Given the description of an element on the screen output the (x, y) to click on. 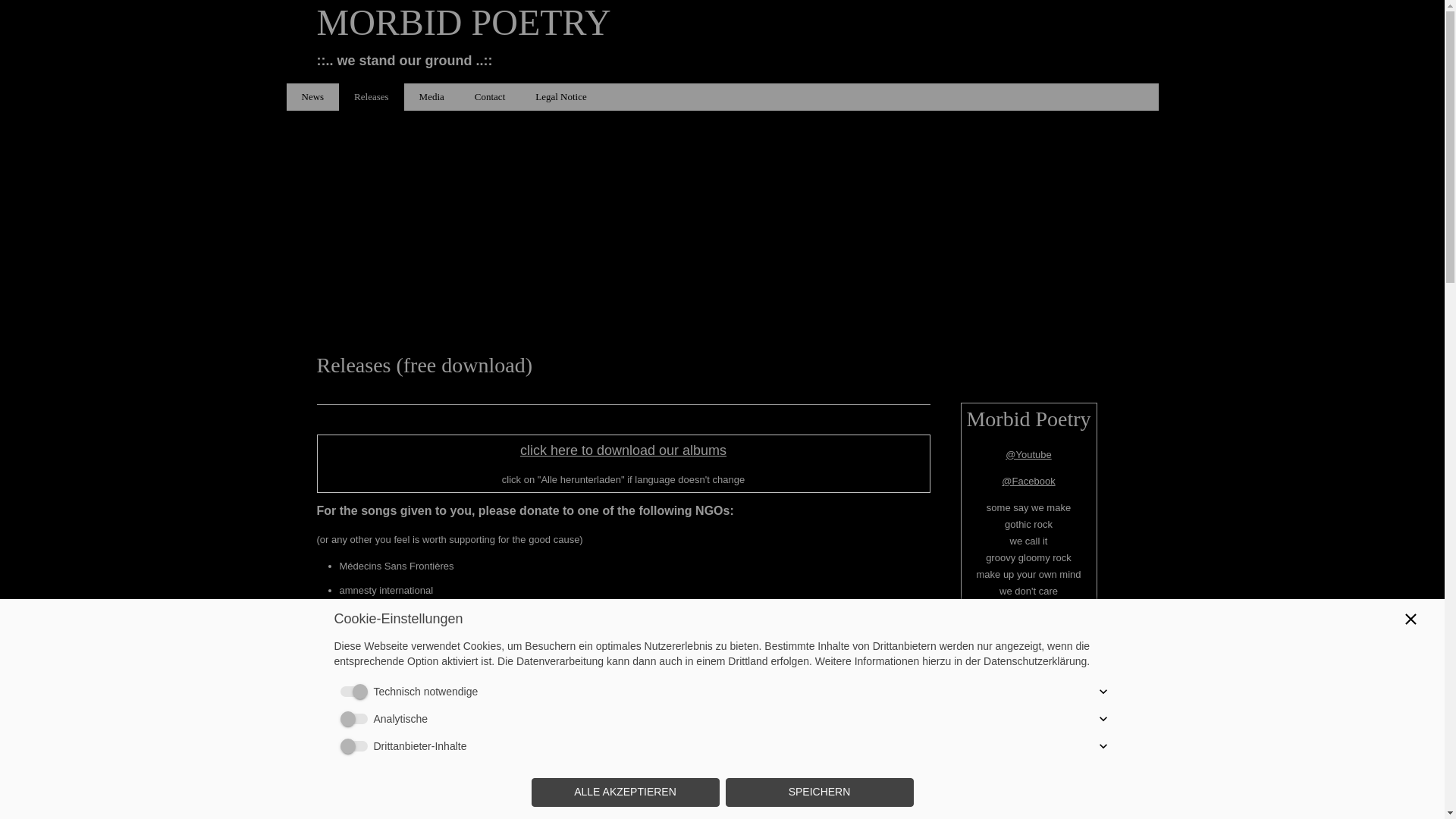
Media (432, 96)
Legal Notice (560, 96)
News (312, 96)
Releases (371, 96)
News (312, 96)
Contact (489, 96)
Releases (371, 96)
Legal Notice (560, 96)
click here to download our albums (622, 450)
Media (432, 96)
